Given the description of an element on the screen output the (x, y) to click on. 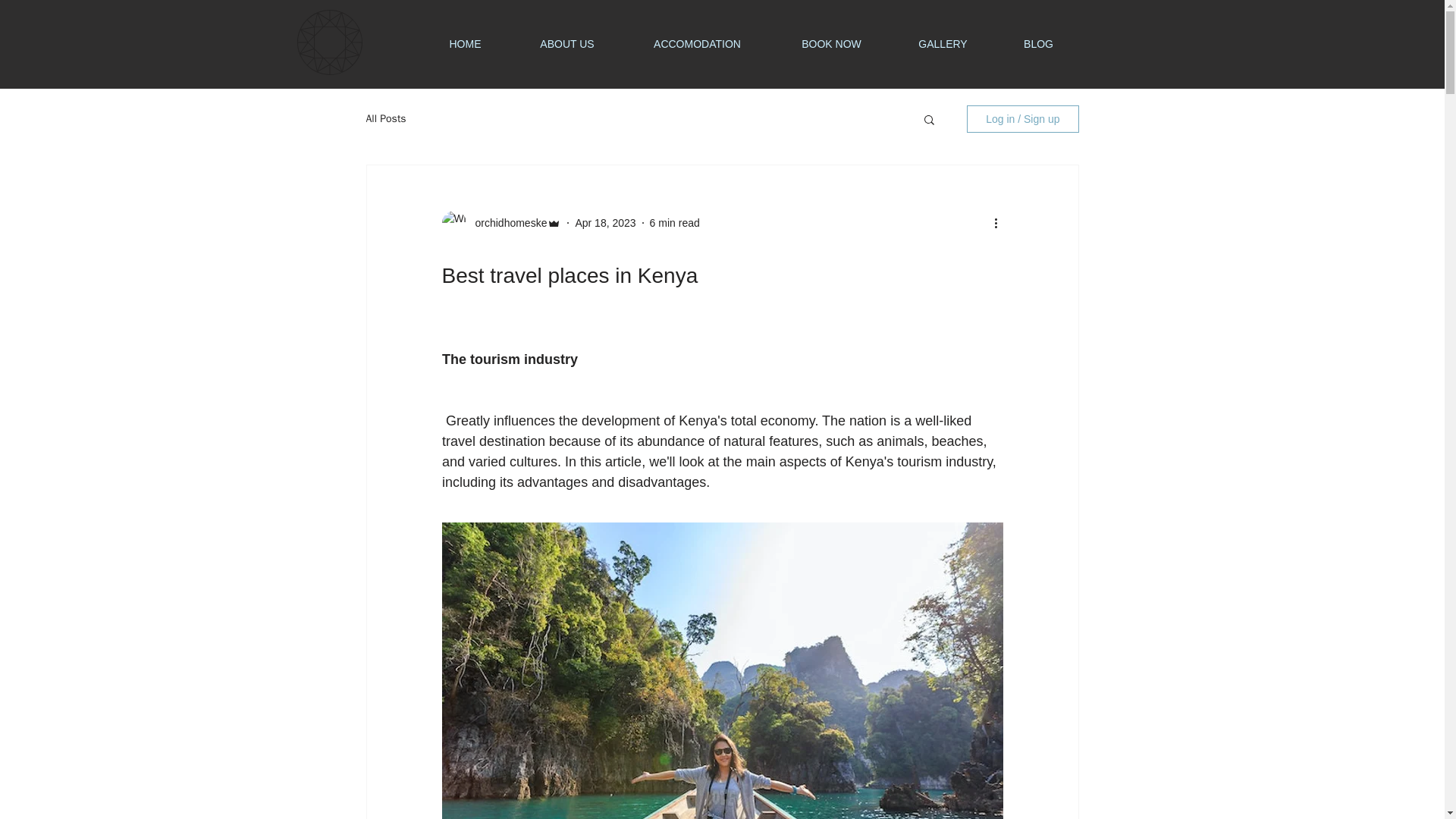
Apr 18, 2023 (604, 223)
GALLERY (942, 43)
ACCOMODATION (697, 43)
BLOG (1038, 43)
BOOK NOW (831, 43)
6 min read (674, 223)
All Posts (385, 119)
ABOUT US (567, 43)
orchidhomeske (506, 222)
HOME (465, 43)
